Given the description of an element on the screen output the (x, y) to click on. 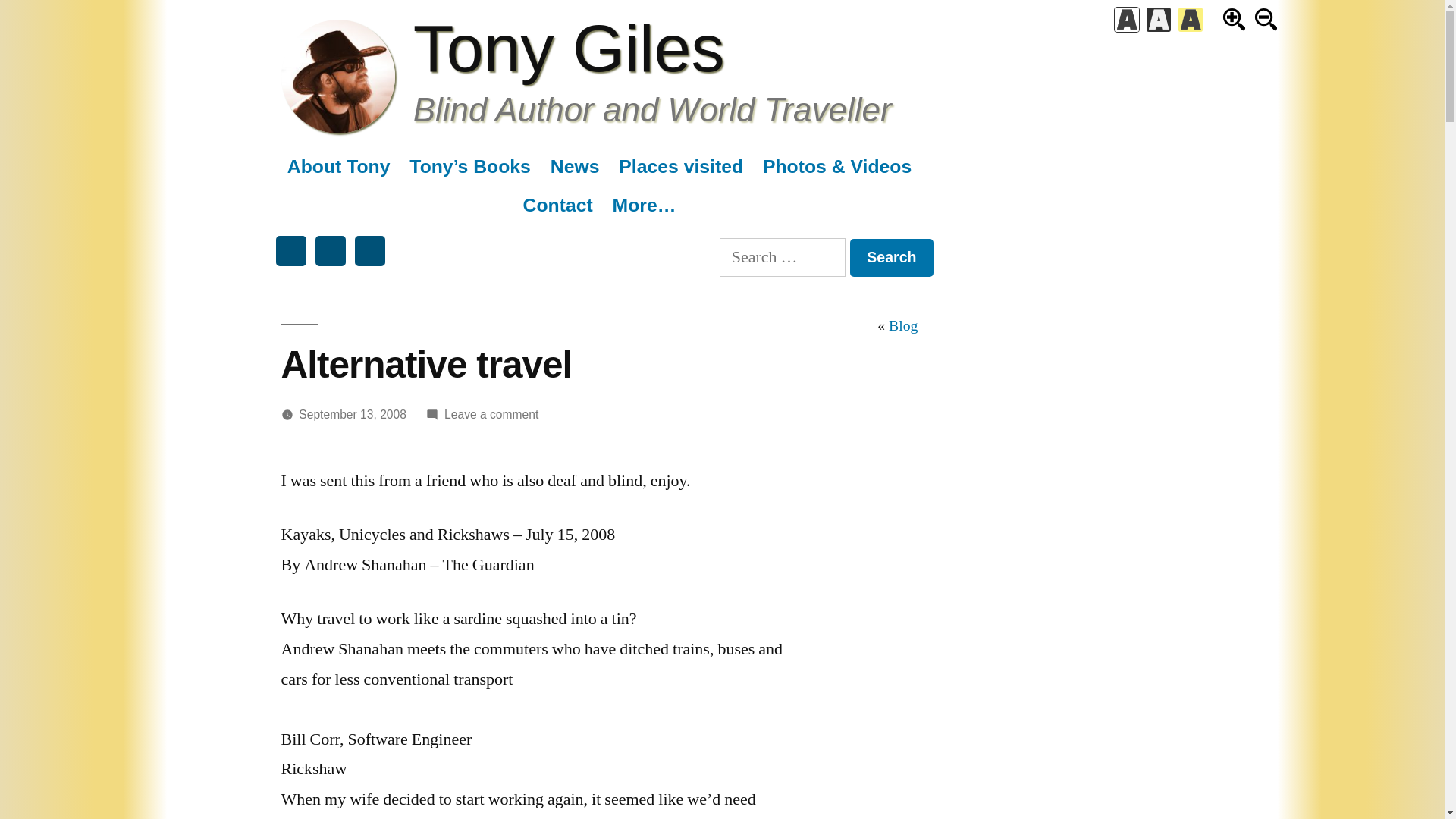
Decrease text size (1265, 18)
Search (891, 257)
Blind Author and World Traveller (652, 108)
About Tony (338, 166)
Places visited (680, 166)
Tony Giles (569, 47)
Switch to a black background with white text (1158, 19)
Search (891, 257)
September 13, 2008 (352, 413)
Switch to a yellow background with black text (1190, 19)
